Given the description of an element on the screen output the (x, y) to click on. 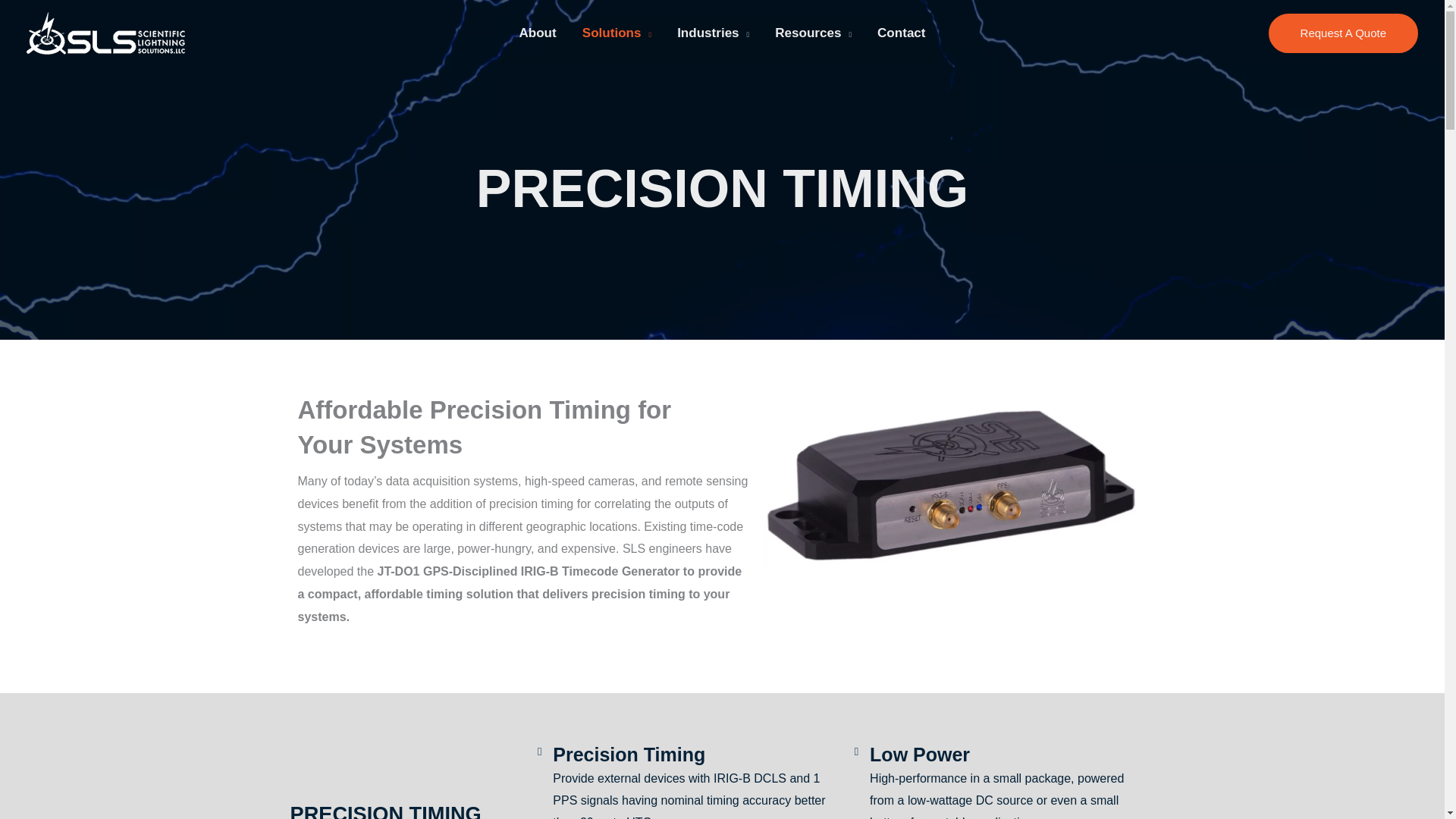
Industries (712, 32)
Solutions (616, 32)
About (537, 32)
Page 40 (522, 549)
